Given the description of an element on the screen output the (x, y) to click on. 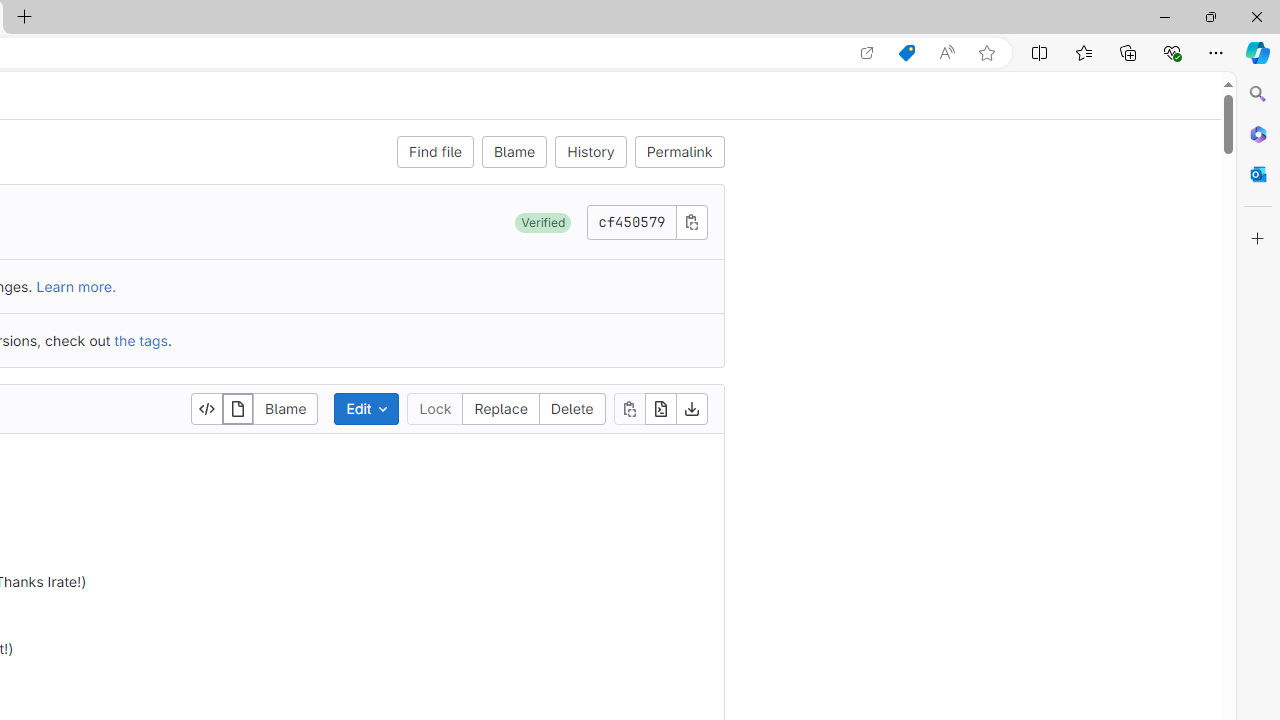
Verified (543, 221)
Delete (571, 408)
Lock (435, 408)
Display source (207, 408)
Download (690, 408)
Copy file contents (629, 408)
